Given the description of an element on the screen output the (x, y) to click on. 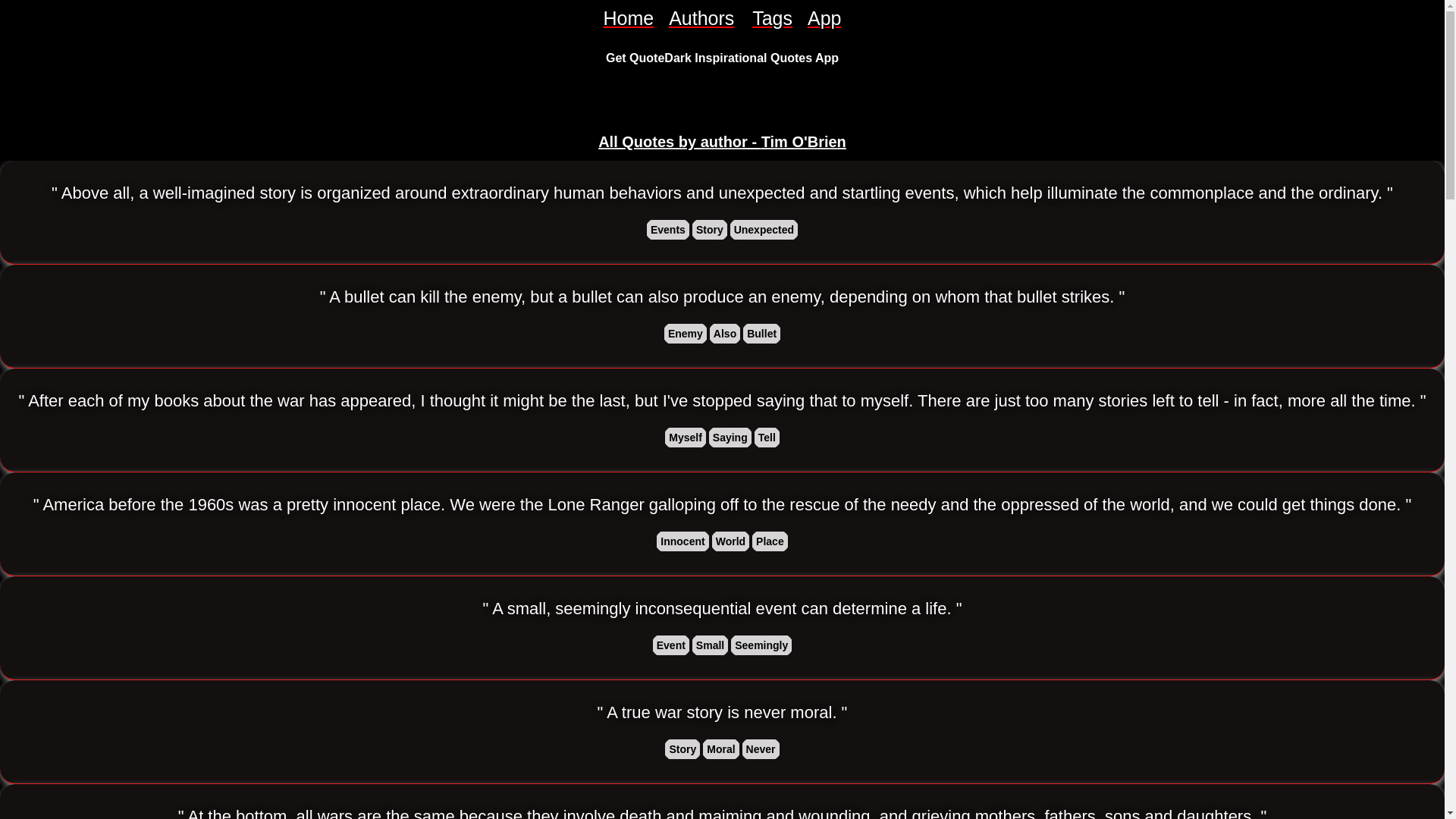
Tags (772, 18)
" A true war story is never moral. " (721, 712)
Story (682, 748)
Innocent (682, 540)
Story (709, 229)
World (730, 540)
Enemy (684, 333)
Never (760, 748)
